Given the description of an element on the screen output the (x, y) to click on. 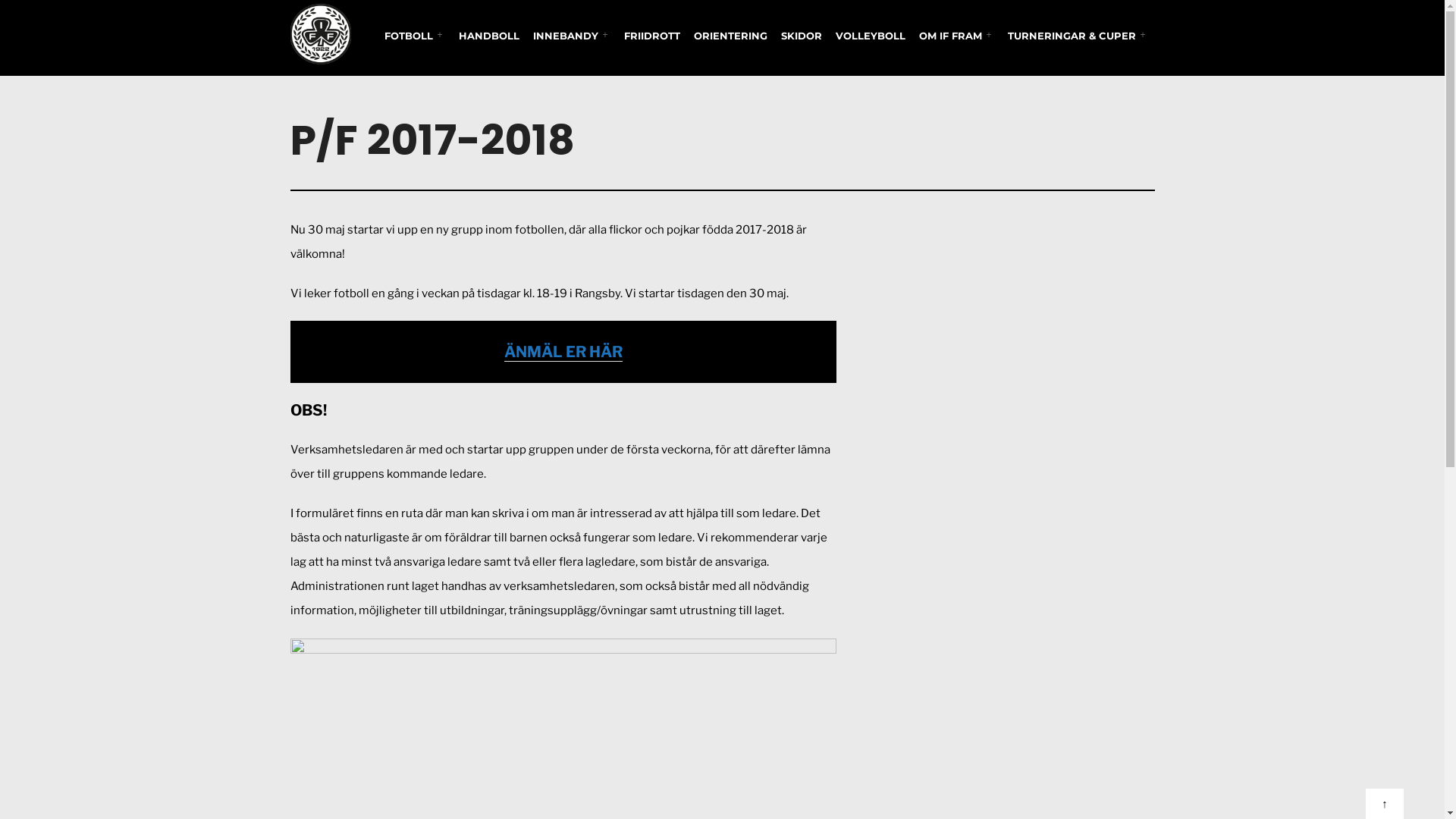
VOLLEYBOLL Element type: text (869, 35)
TURNERINGAR & CUPER Element type: text (1077, 35)
HANDBOLL Element type: text (488, 35)
FOTBOLL Element type: text (414, 35)
ORIENTERING Element type: text (730, 35)
OM IF FRAM Element type: text (955, 35)
INNEBANDY Element type: text (571, 35)
SKIDOR Element type: text (800, 35)
FRIIDROTT Element type: text (652, 35)
